Given the description of an element on the screen output the (x, y) to click on. 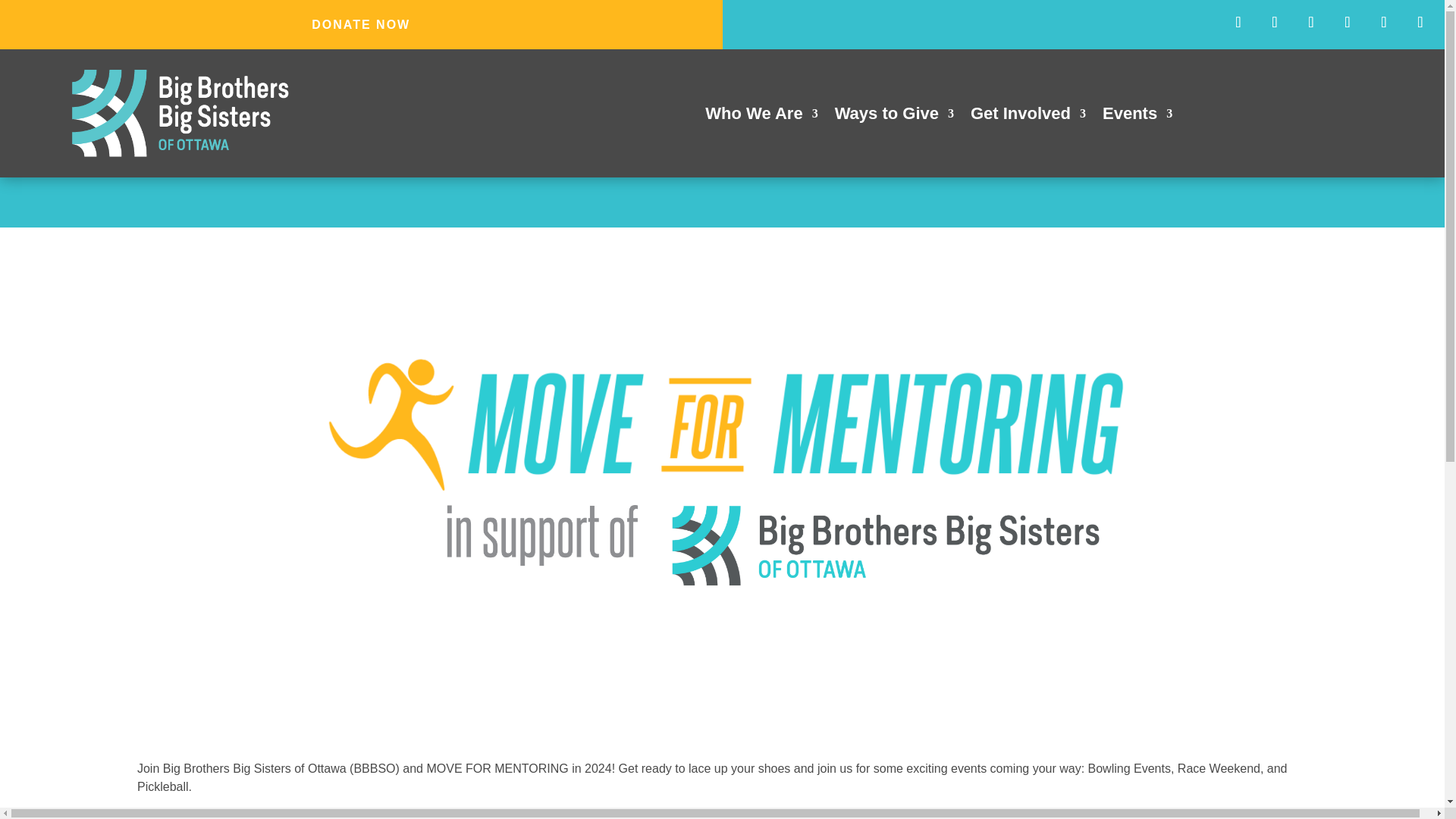
Ways to Give (893, 116)
Events (1137, 116)
Get Involved (1028, 116)
Follow on X (1274, 21)
Follow on LinkedIn (1383, 21)
Who We Are (760, 116)
Follow on Youtube (1347, 21)
Follow on Facebook (1238, 21)
DONATE NOW (361, 24)
Follow on TikTok (1420, 21)
Follow on Instagram (1310, 21)
